Given the description of an element on the screen output the (x, y) to click on. 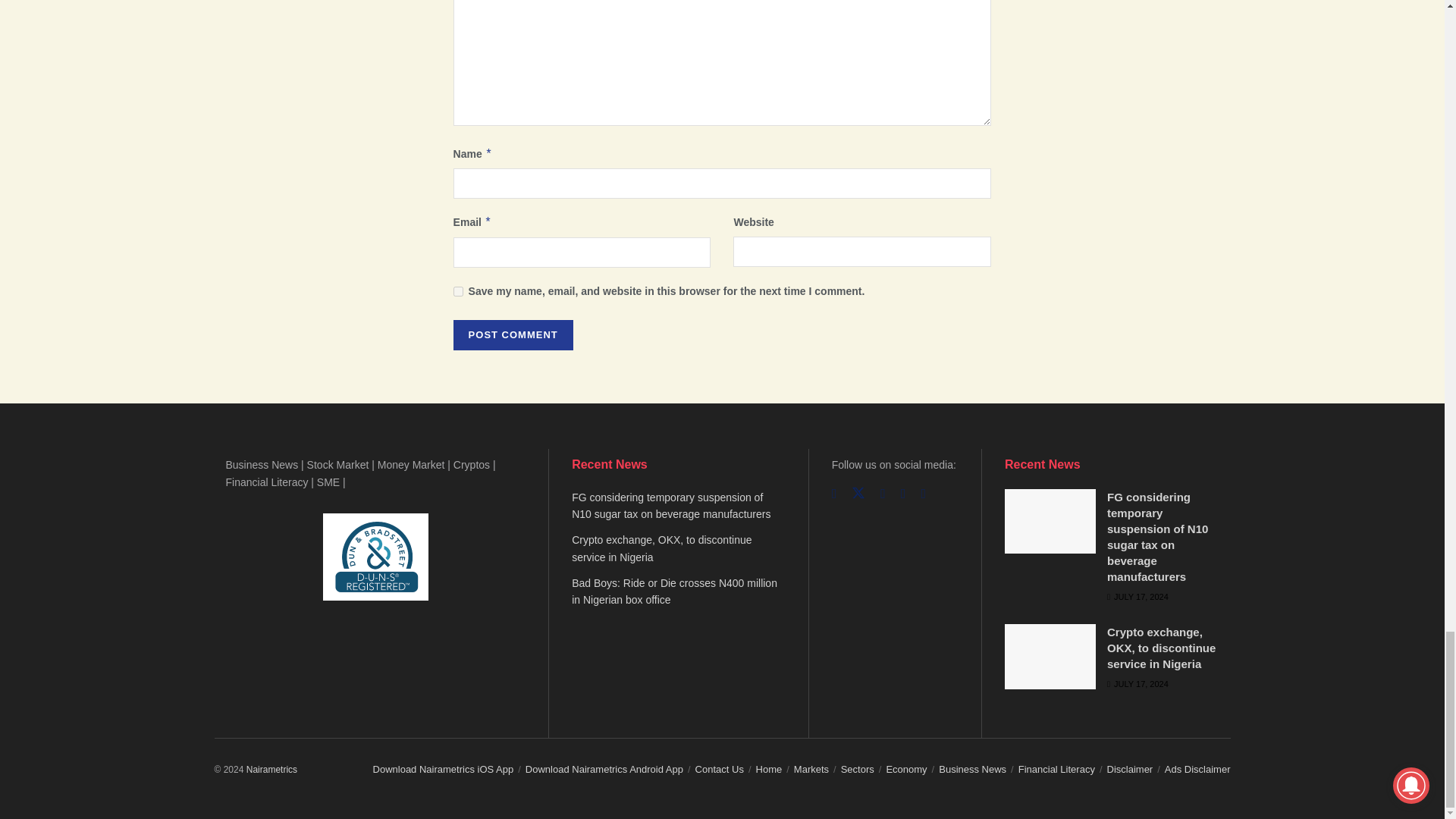
Nairametrics (271, 769)
yes (457, 291)
Post Comment (512, 335)
